Given the description of an element on the screen output the (x, y) to click on. 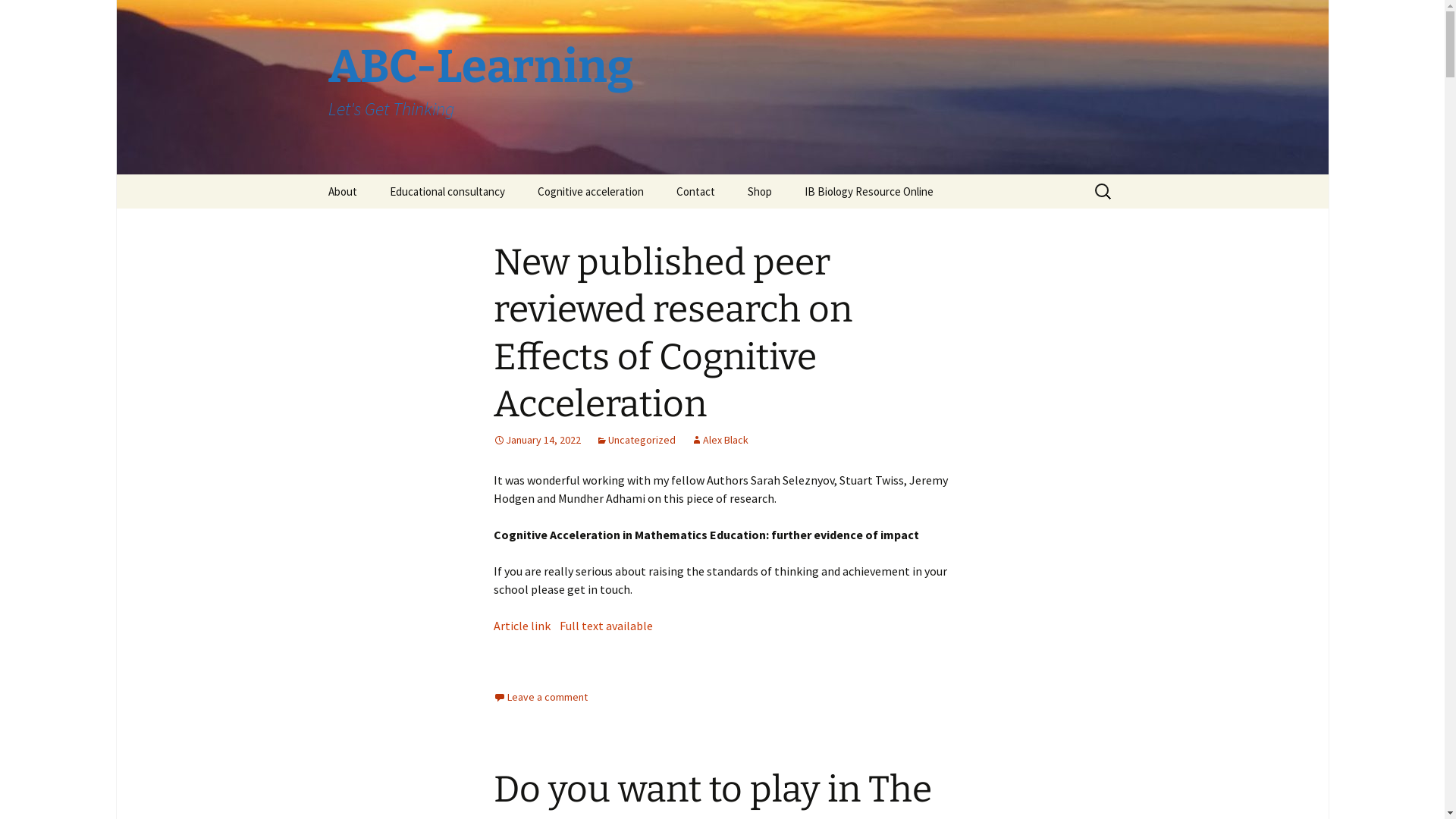
Article link    Full text available Element type: text (572, 625)
Educational consultancy Element type: text (447, 191)
Topic 6 Human Health and Physiology Element type: text (864, 231)
Alex Black Element type: text (718, 439)
Shop Element type: text (759, 191)
Skip to content Element type: text (312, 173)
Search Element type: text (34, 15)
Leave a comment Element type: text (539, 696)
January 14, 2022 Element type: text (536, 439)
Cognitive acceleration Element type: text (589, 191)
About Element type: text (341, 191)
Search Element type: text (18, 16)
IB Biology Resource Online Element type: text (867, 191)
Contact Element type: text (695, 191)
Cognitive acceleration: Research report Element type: text (597, 231)
Cart Element type: text (808, 225)
Uncategorized Element type: text (635, 439)
ABC-Learning
Let's Get Thinking Element type: text (721, 87)
